Given the description of an element on the screen output the (x, y) to click on. 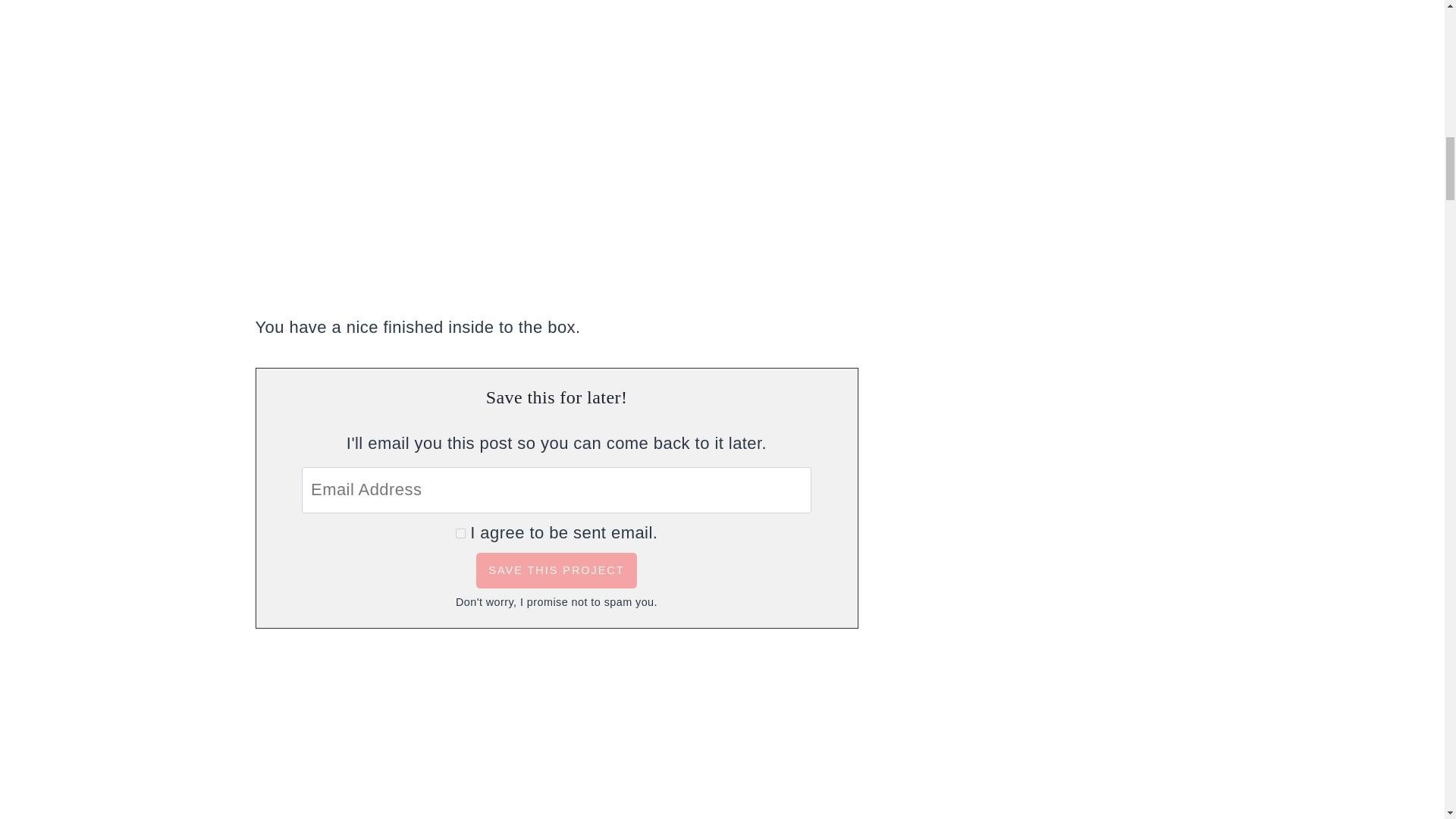
Save This Project (556, 570)
Save This Project (556, 570)
1 (460, 533)
